Given the description of an element on the screen output the (x, y) to click on. 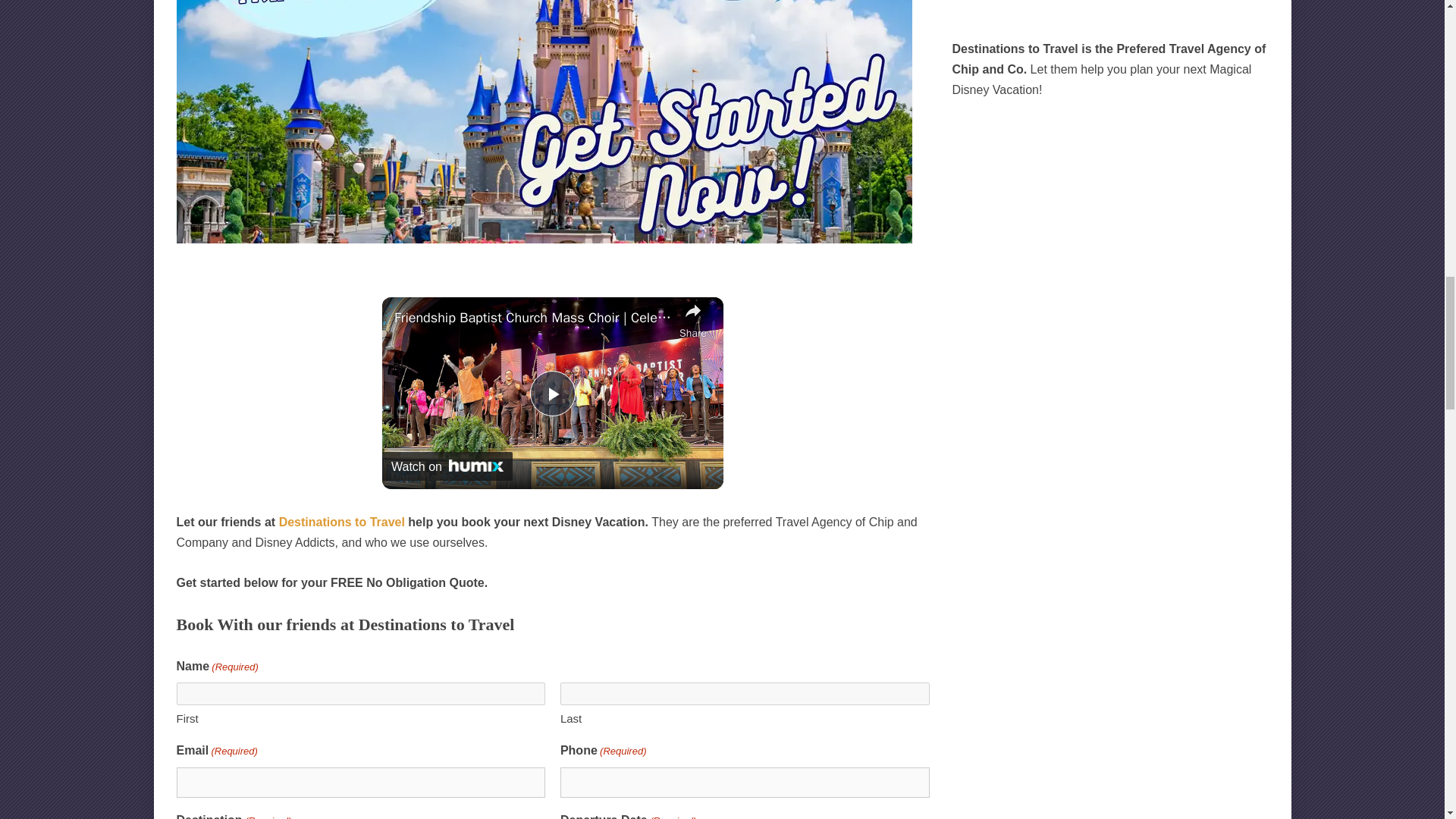
Play Video (552, 393)
